Given the description of an element on the screen output the (x, y) to click on. 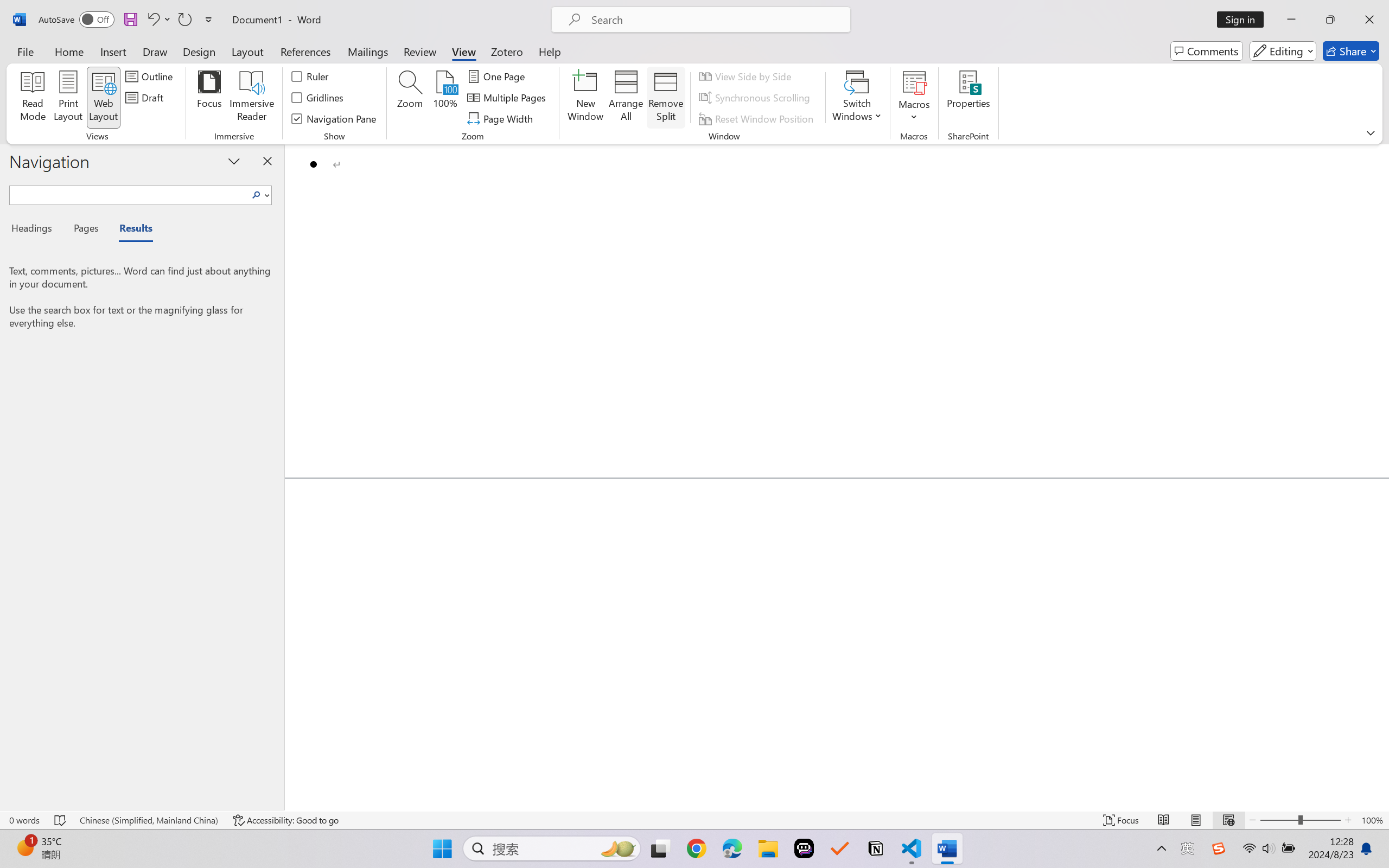
100% (445, 97)
